Given the description of an element on the screen output the (x, y) to click on. 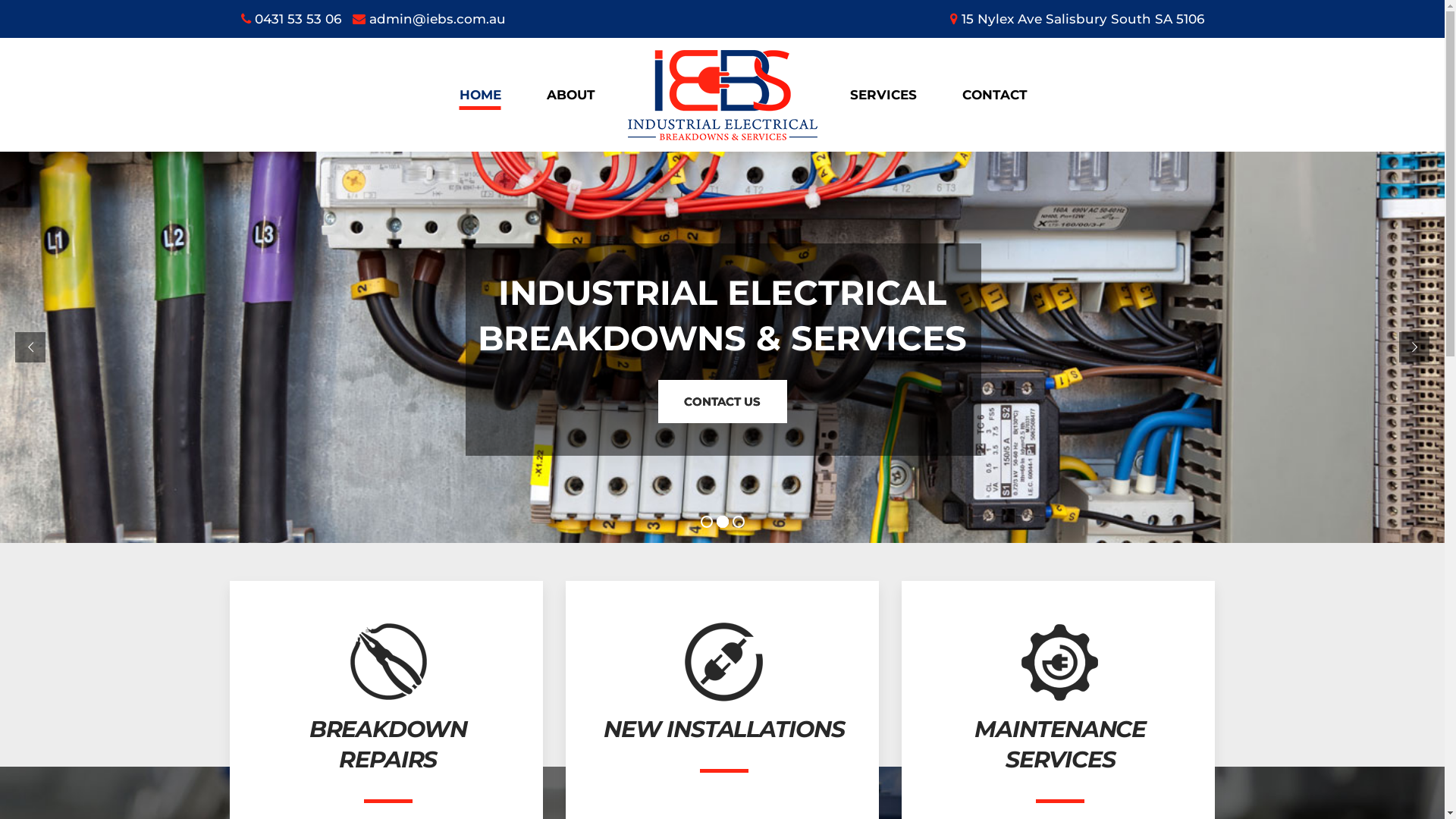
HOME Element type: text (480, 94)
CONTACT US Element type: text (722, 401)
CONTACT Element type: text (993, 94)
SERVICES Element type: text (882, 94)
admin@iebs.com.au Element type: text (428, 18)
0431 53 53 06 Element type: text (291, 18)
ABOUT Element type: text (570, 94)
